Given the description of an element on the screen output the (x, y) to click on. 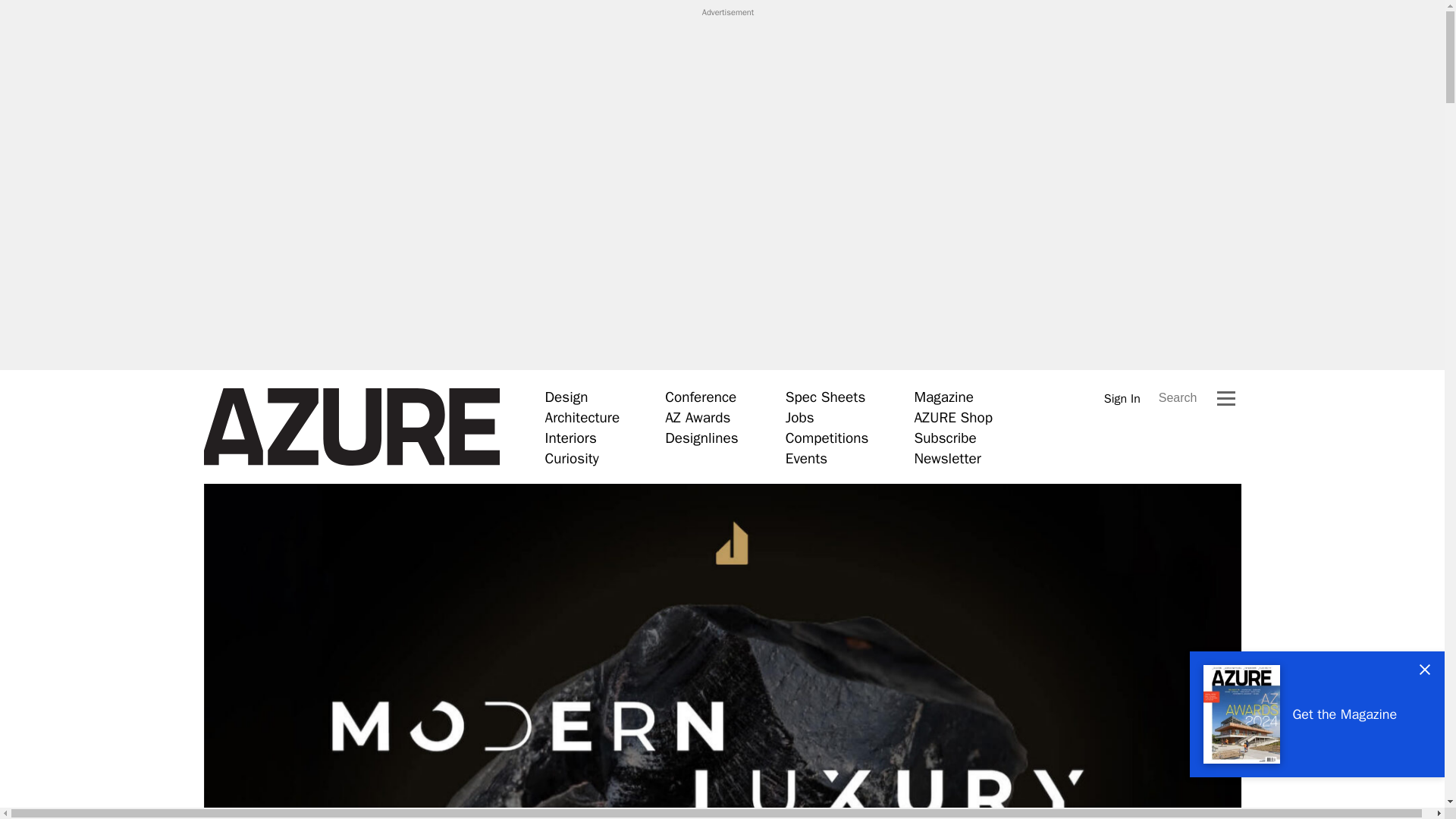
Jobs (799, 417)
Conference (700, 397)
AZURE Shop (953, 417)
Azure Magazine (351, 426)
Designlines (701, 438)
Design (566, 397)
Sign In (1122, 398)
Events (806, 458)
Search (1178, 397)
Curiosity (571, 458)
